Given the description of an element on the screen output the (x, y) to click on. 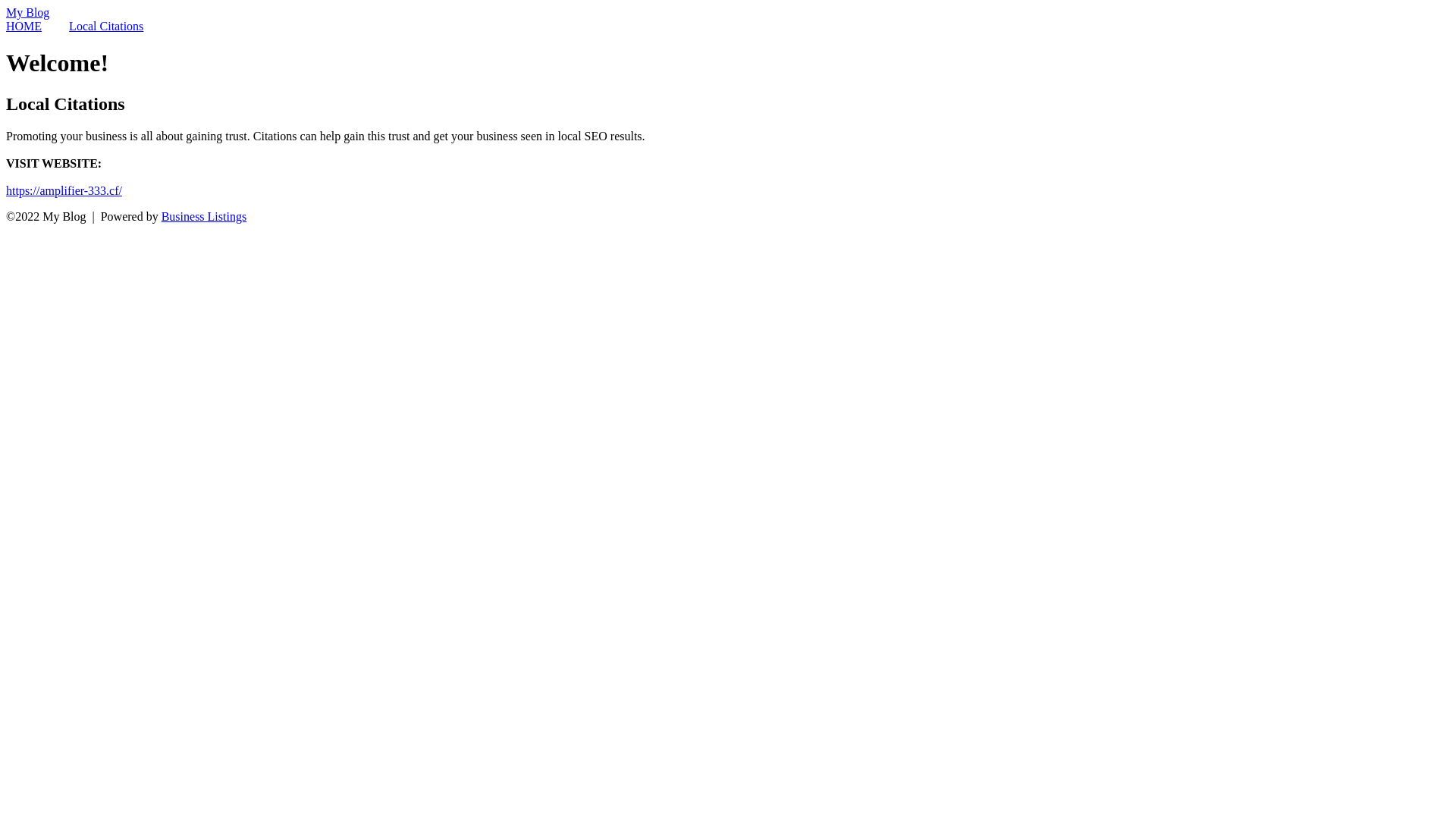
HOME Element type: text (23, 25)
Local Citations Element type: text (106, 25)
Business Listings Element type: text (203, 216)
https://amplifier-333.cf/ Element type: text (64, 190)
My Blog Element type: text (27, 12)
